Given the description of an element on the screen output the (x, y) to click on. 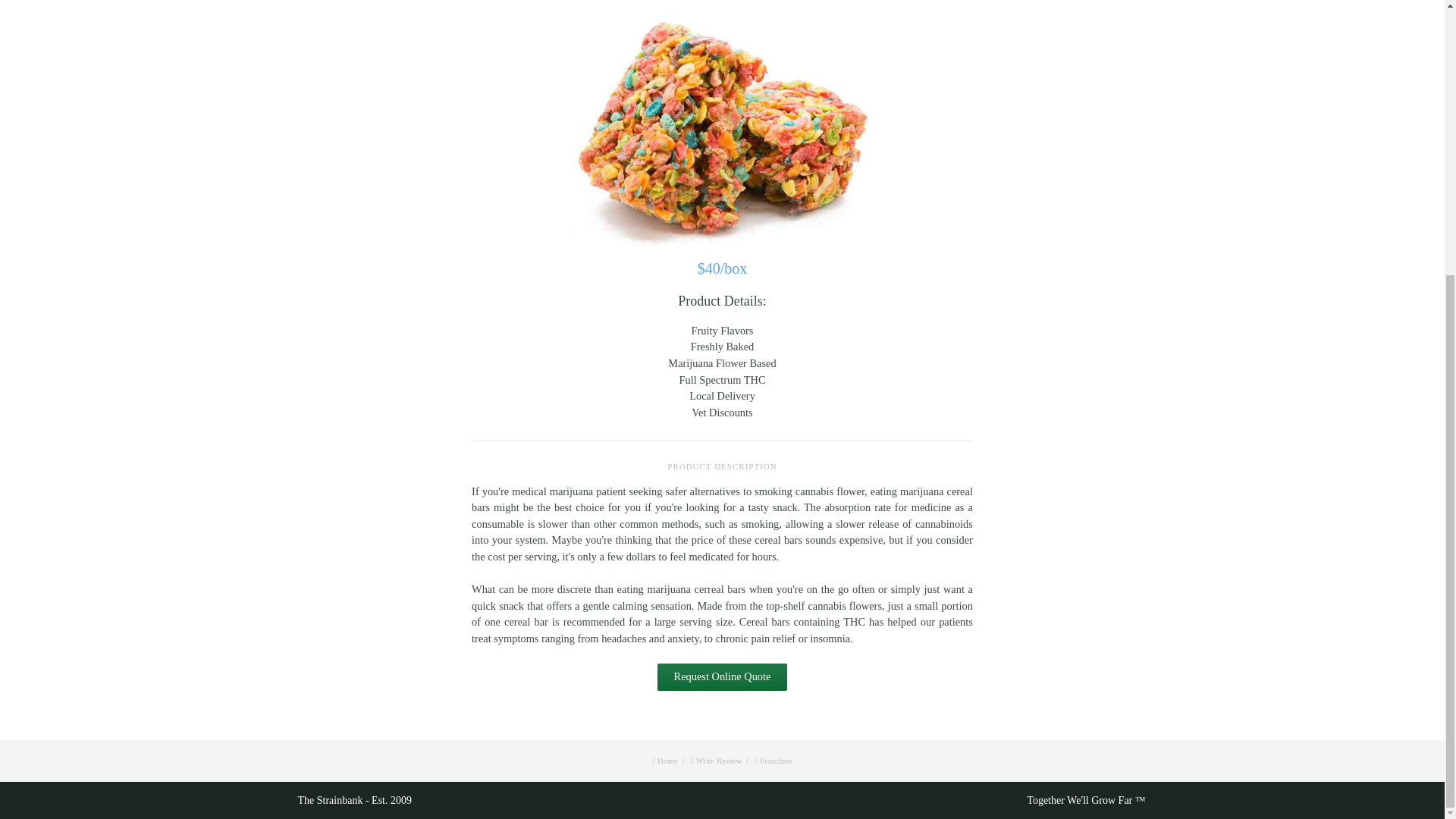
Request Online Quote (722, 677)
Home (673, 759)
Click Here (722, 677)
Franchise (776, 759)
Write Review (723, 759)
